Given the description of an element on the screen output the (x, y) to click on. 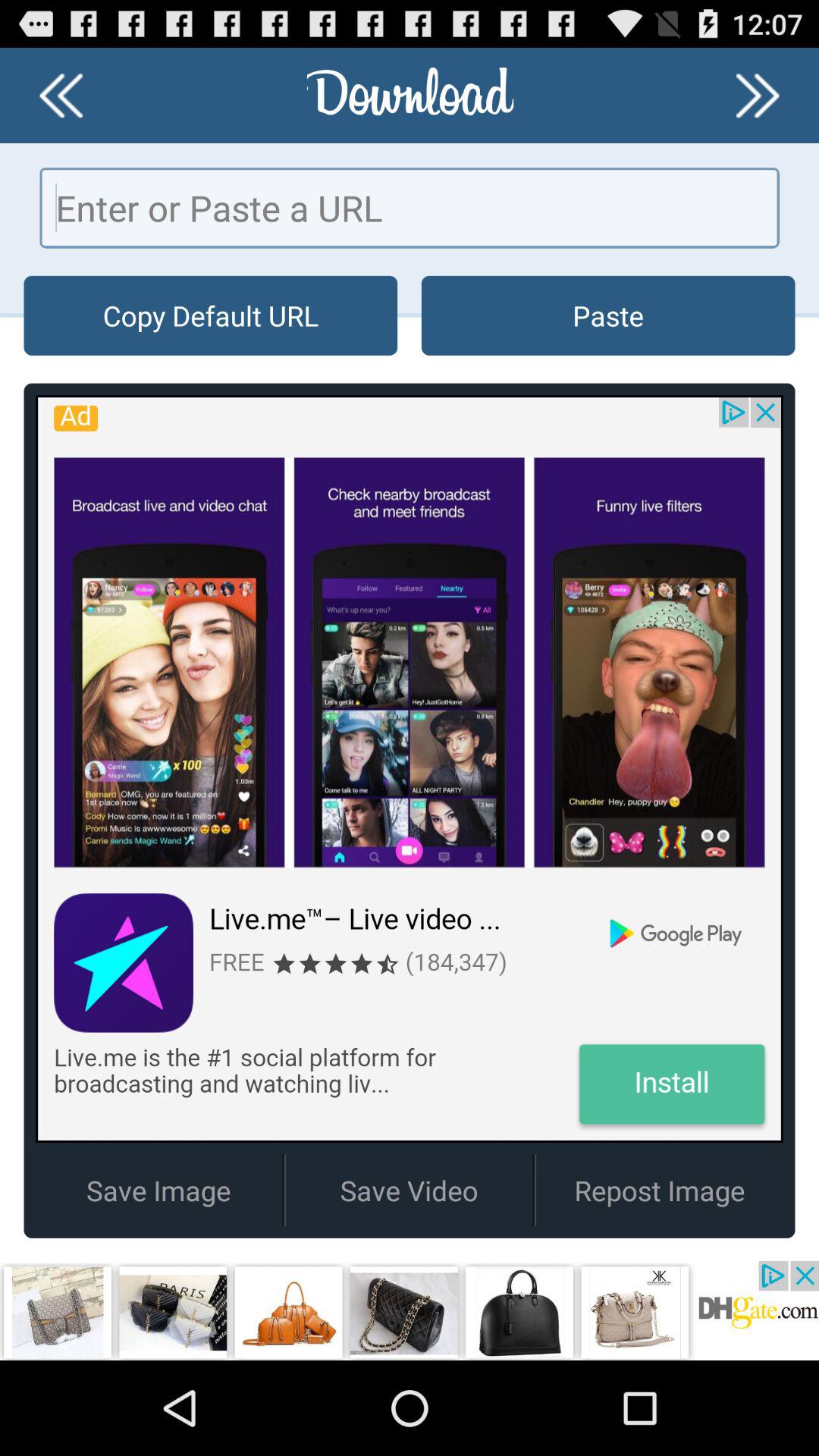
fiend woad (757, 95)
